Given the description of an element on the screen output the (x, y) to click on. 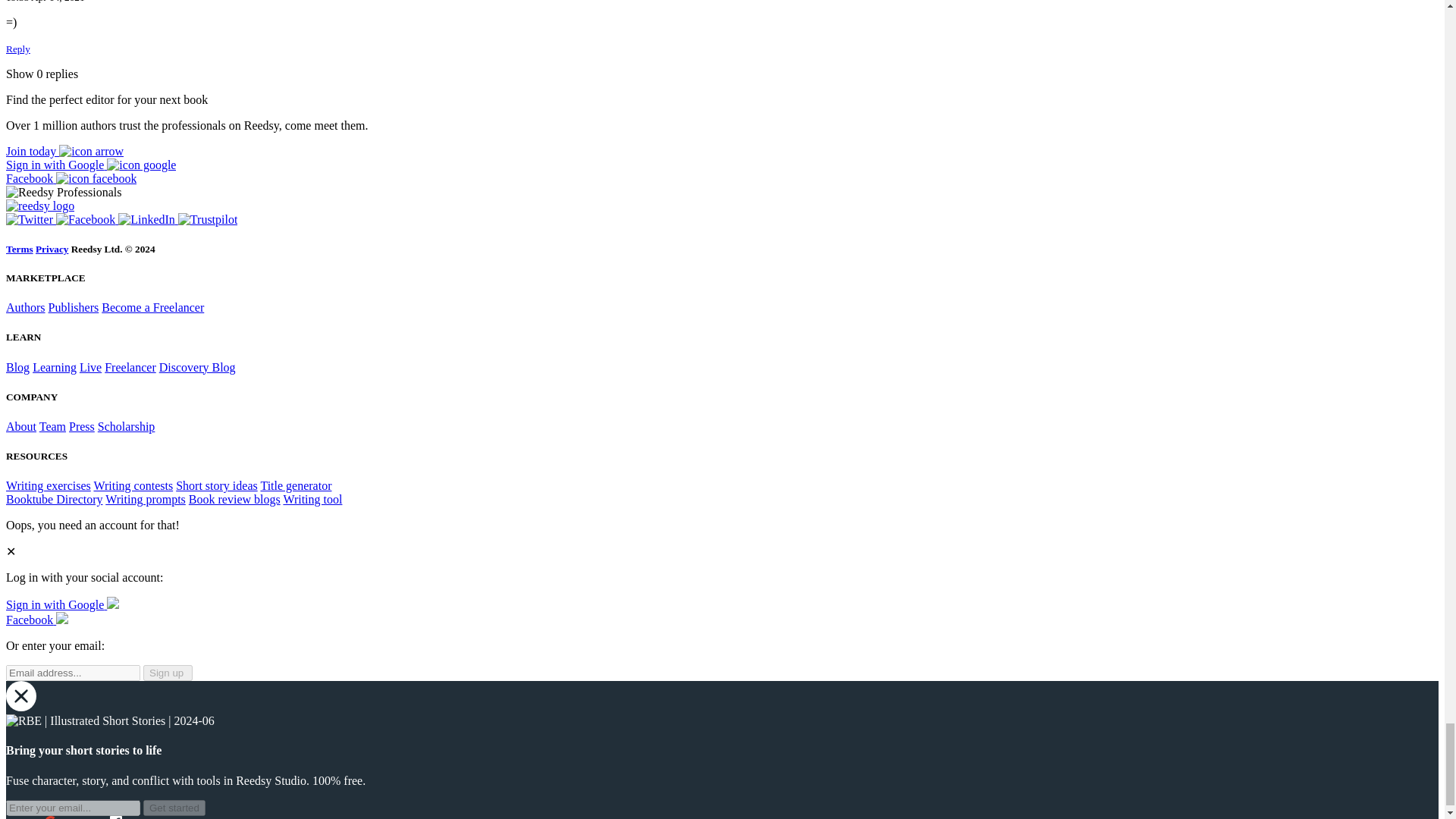
Sign up (64, 151)
Sign up  (167, 672)
Facebook (86, 219)
Sign in with Google (62, 604)
Trustpilot (207, 219)
Twitter (30, 219)
LinkedIn (147, 219)
Get started (173, 807)
Sign in with Facebook (70, 178)
Sign in with Facebook (36, 619)
